Given the description of an element on the screen output the (x, y) to click on. 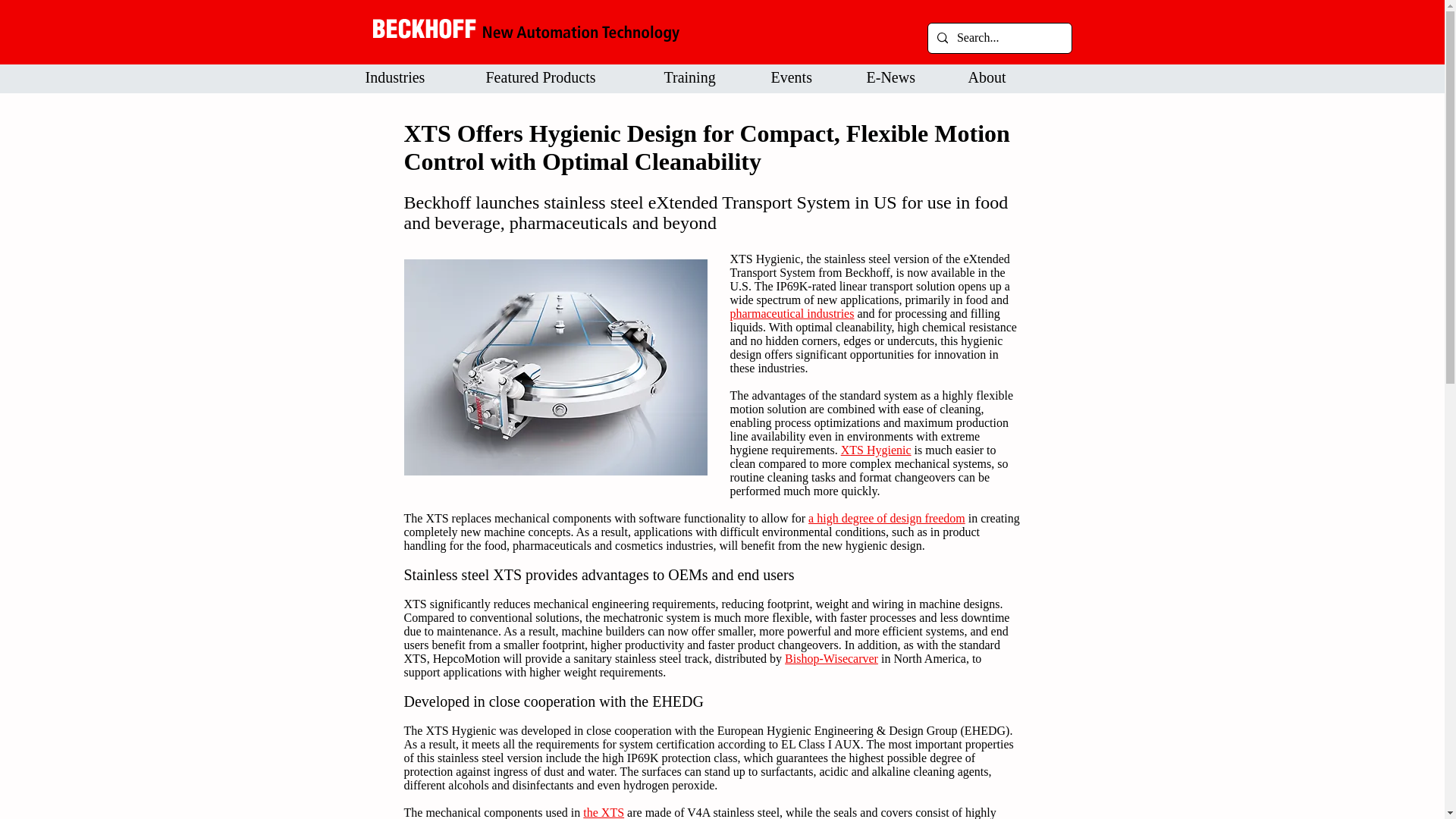
Training (702, 77)
XTS Hygienic (876, 449)
Bishop-Wisecarver (830, 658)
About (999, 77)
a high degree of design freedom (886, 517)
Events (804, 77)
the XTS (603, 812)
Featured Products (560, 77)
pharmaceutical industries (791, 313)
Industries (410, 77)
